Given the description of an element on the screen output the (x, y) to click on. 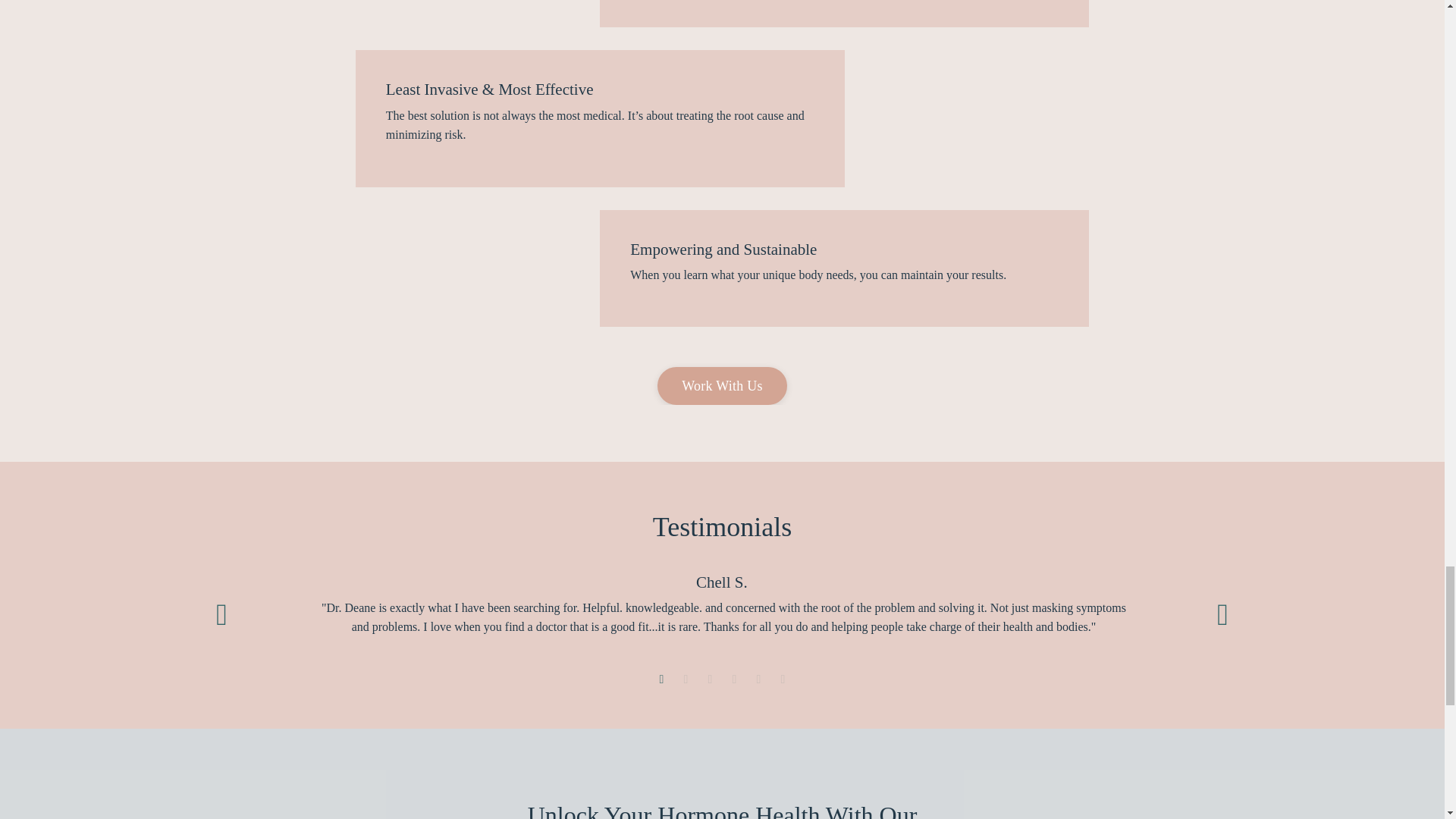
2 (685, 679)
Next (1222, 614)
5 (758, 679)
Previous (221, 614)
Work With Us (722, 385)
1 (660, 679)
4 (733, 679)
3 (709, 679)
6 (782, 679)
